Given the description of an element on the screen output the (x, y) to click on. 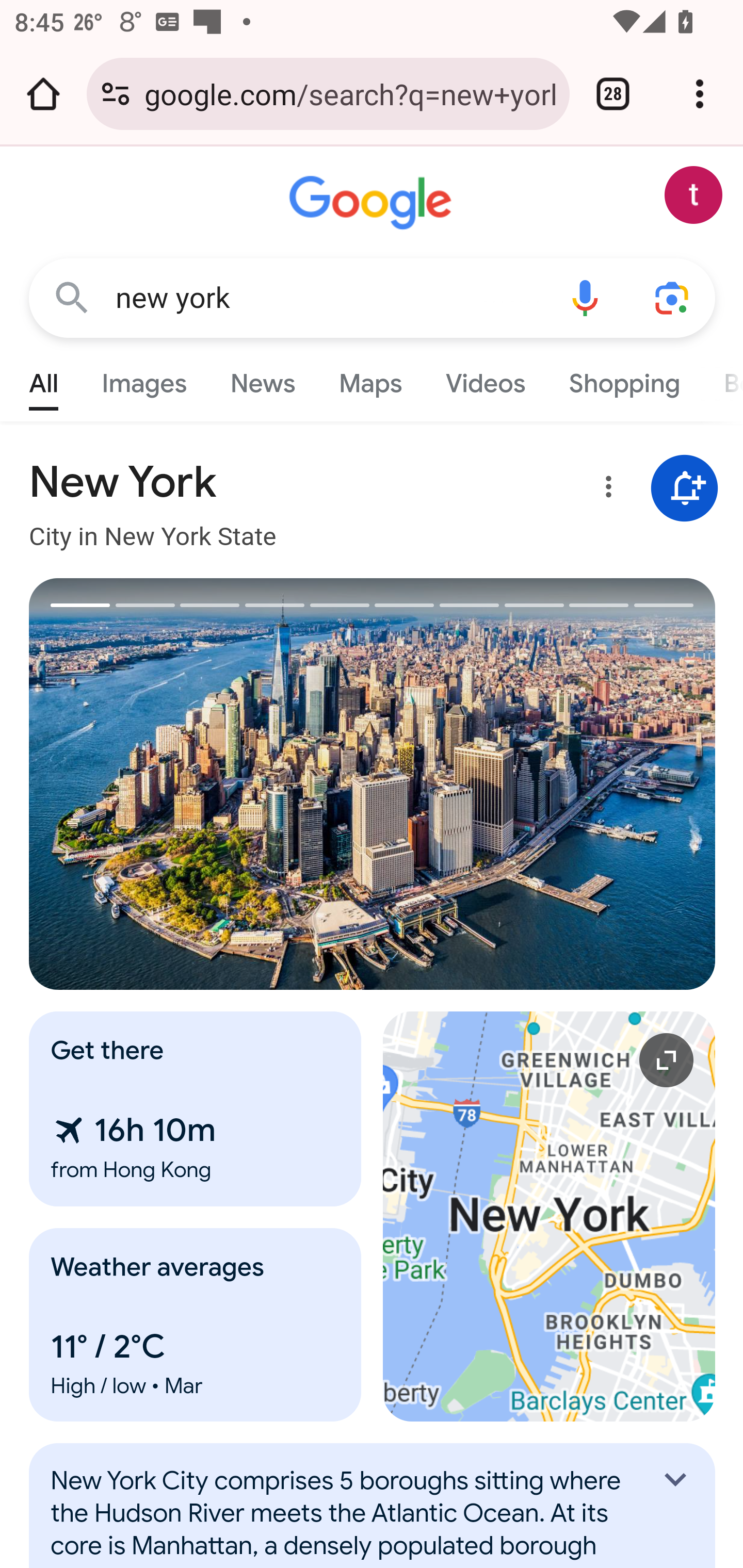
Open the home page (43, 93)
Connection is secure (115, 93)
Switch or close tabs (612, 93)
Customize and control Google Chrome (699, 93)
Google (372, 203)
Google Search (71, 296)
Search using your camera or photos (672, 296)
new york (328, 297)
Images (144, 378)
News (262, 378)
Maps (369, 378)
Videos (485, 378)
Shopping (623, 378)
Get notifications about New York (684, 489)
More options (605, 489)
Previous image (200, 783)
Next image (544, 783)
Expand map (549, 1216)
Weather averages 11° / 2°C High / low • Mar (195, 1324)
